Given the description of an element on the screen output the (x, y) to click on. 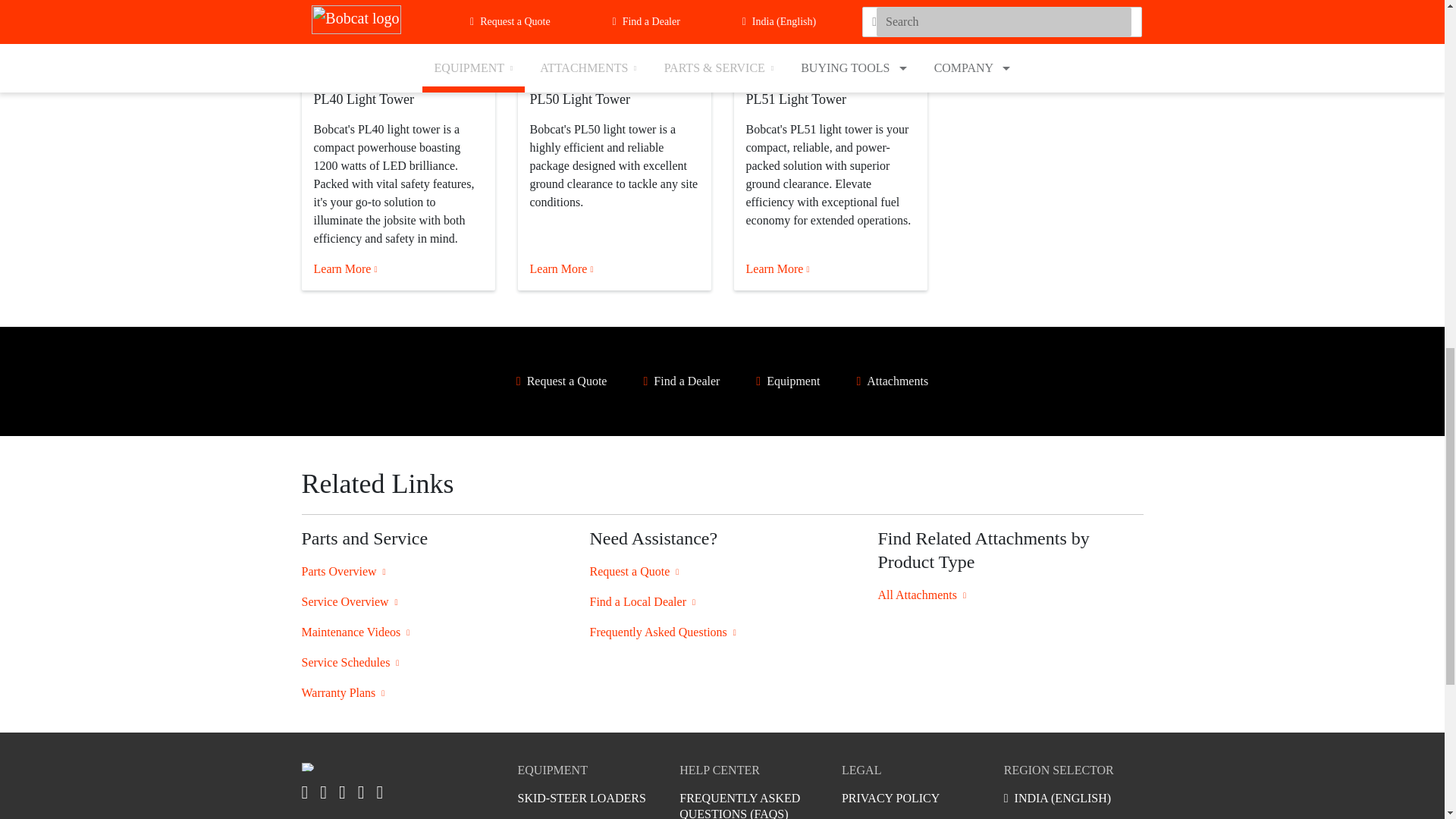
PL40 Light Tower (398, 39)
PL51 Light Tower (830, 39)
PL50 Light Tower (613, 39)
